Given the description of an element on the screen output the (x, y) to click on. 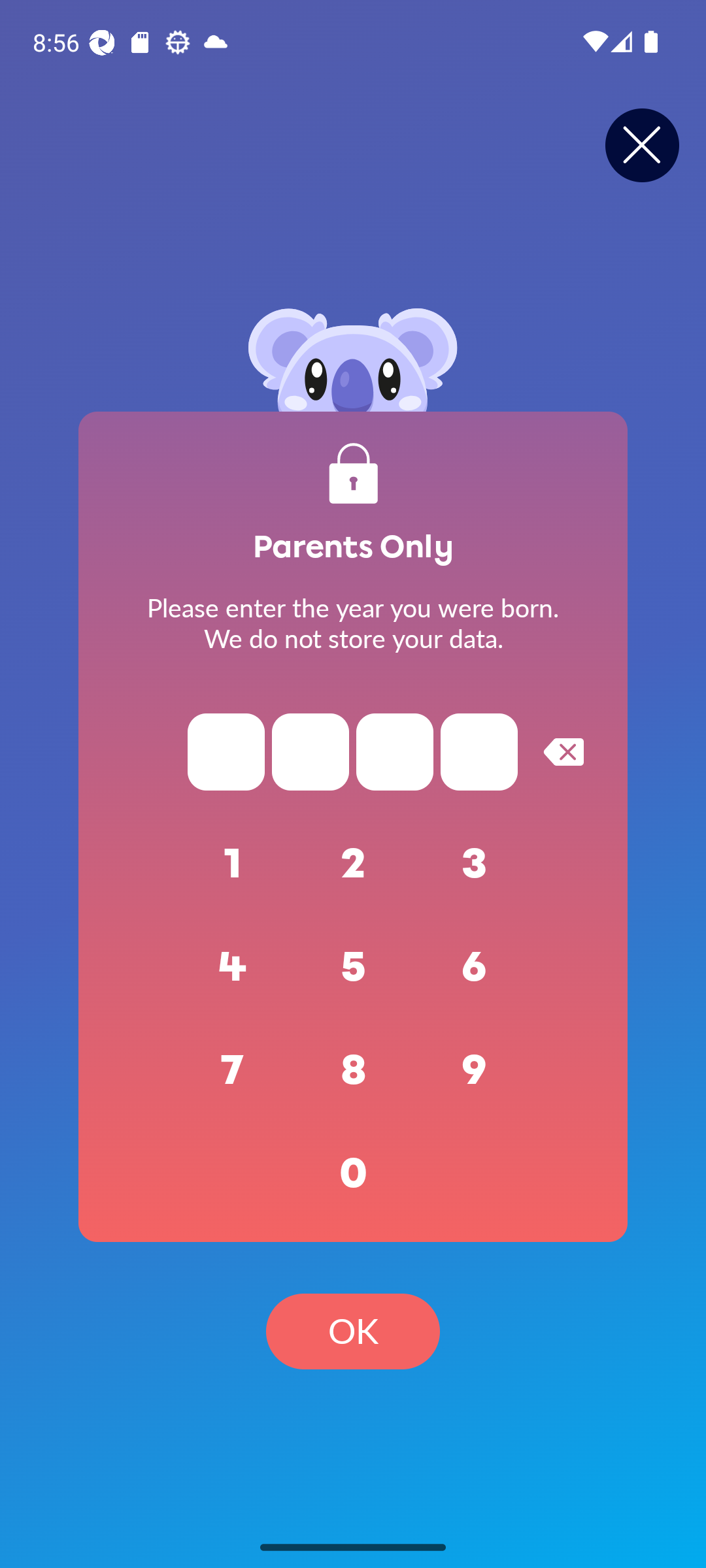
Delete (563, 751)
1 (232, 863)
2 (353, 863)
3 (474, 863)
4 (232, 966)
5 (353, 966)
6 (474, 966)
7 (232, 1069)
8 (353, 1069)
9 (474, 1069)
0 (353, 1173)
OK (352, 1331)
